Given the description of an element on the screen output the (x, y) to click on. 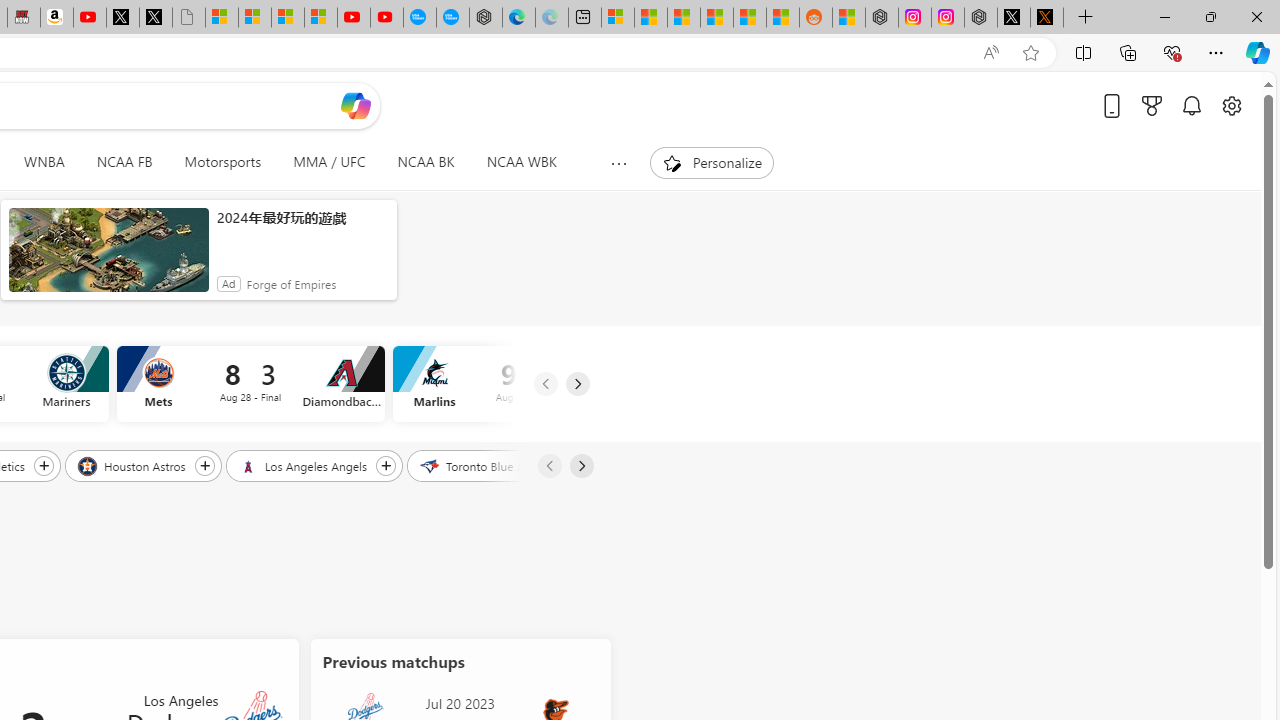
WNBA (44, 162)
Toronto Blue Jays (481, 465)
help.x.com | 524: A timeout occurred (1046, 17)
Los Angeles Angels (304, 465)
NCAA WBK (521, 162)
X (155, 17)
Follow Los Angeles Angels (386, 465)
Untitled (188, 17)
